Given the description of an element on the screen output the (x, y) to click on. 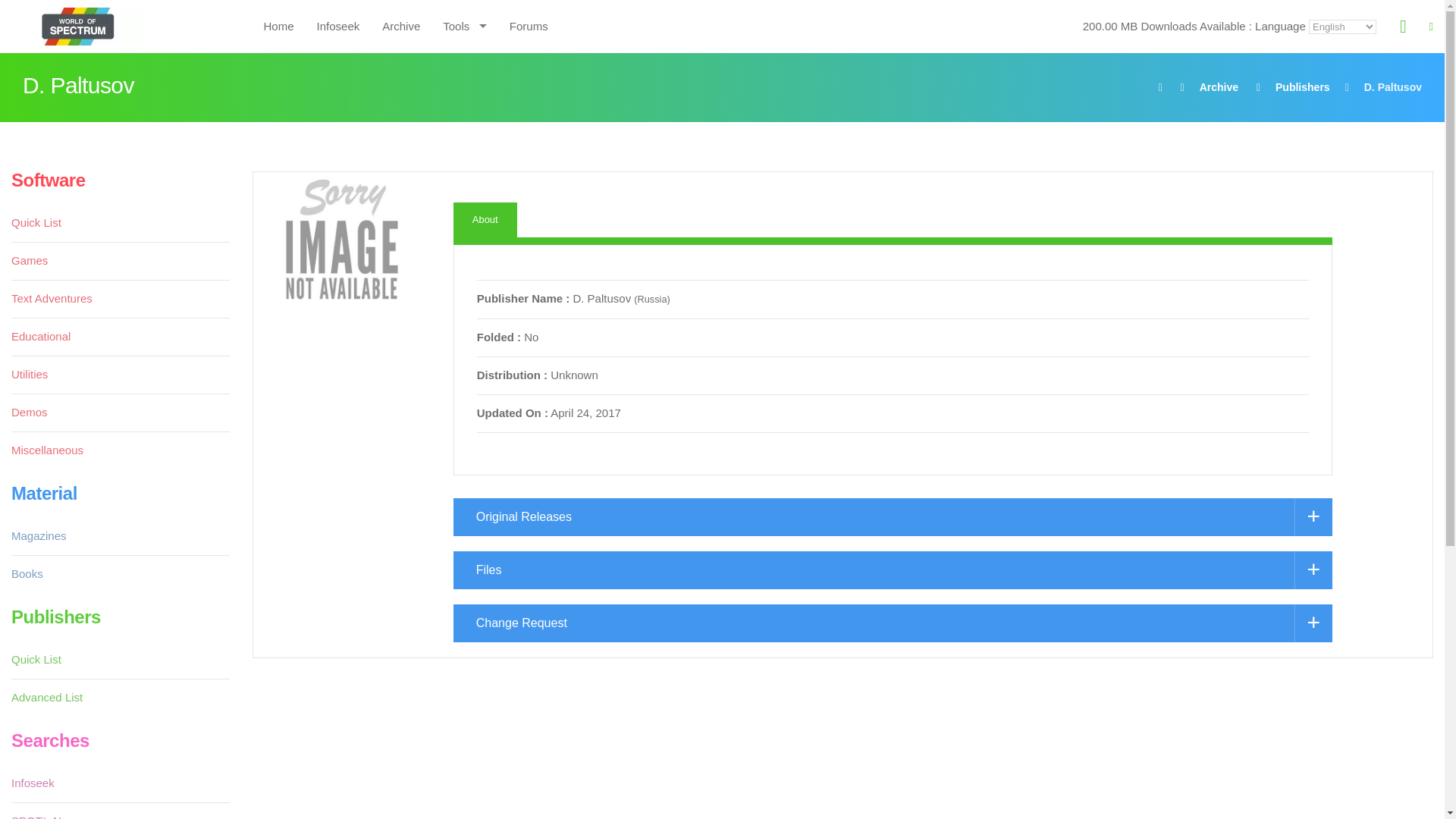
Forums (528, 26)
Original Releases (892, 516)
Tools (463, 26)
Publishers (1302, 87)
Infoseek (338, 26)
Change Request (892, 623)
Archive (1219, 87)
Home (277, 26)
Archive (400, 26)
Files (892, 569)
